Given the description of an element on the screen output the (x, y) to click on. 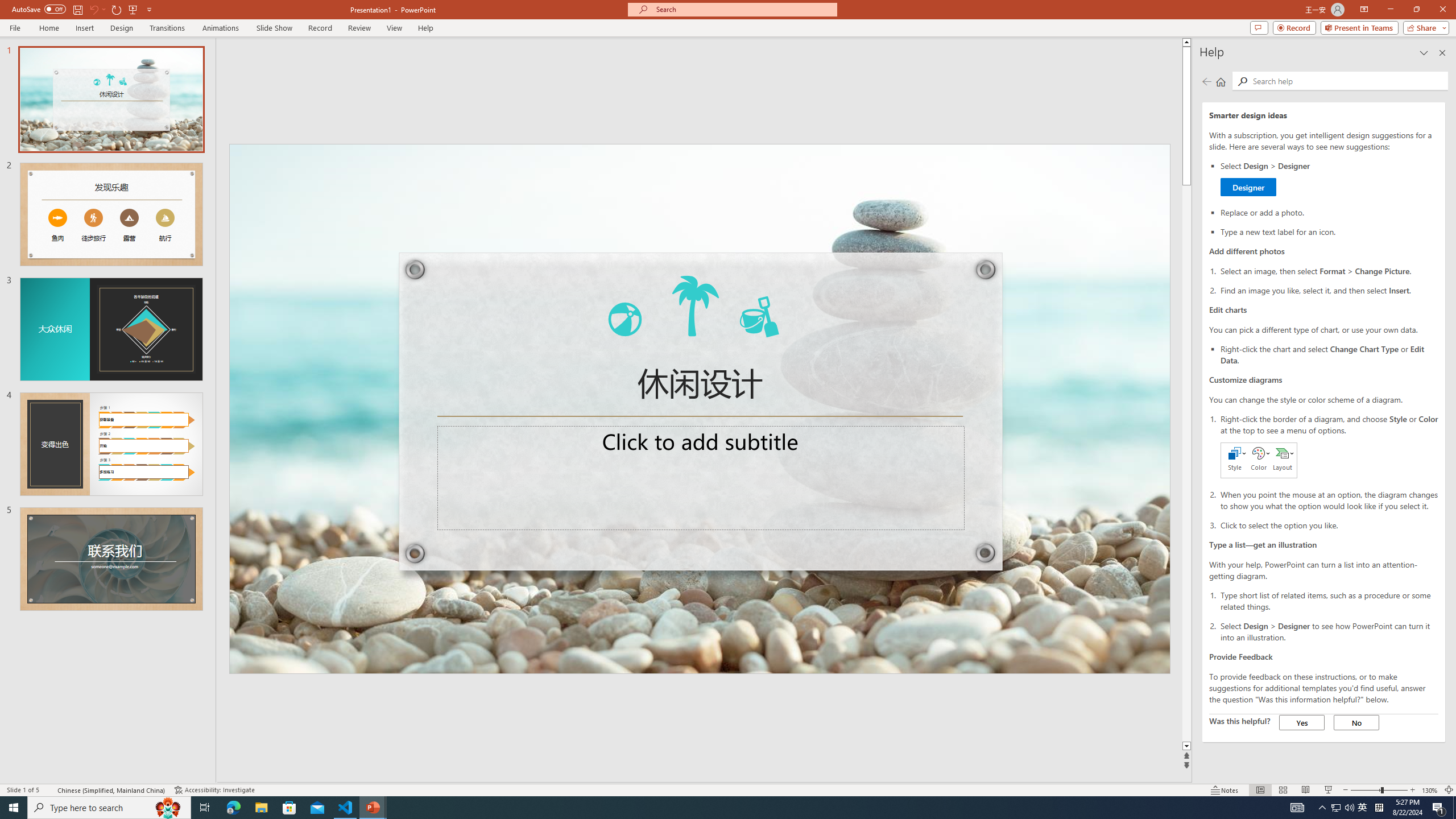
Find an image you like, select it, and then select Insert. (1329, 289)
Yes (1301, 722)
